Given the description of an element on the screen output the (x, y) to click on. 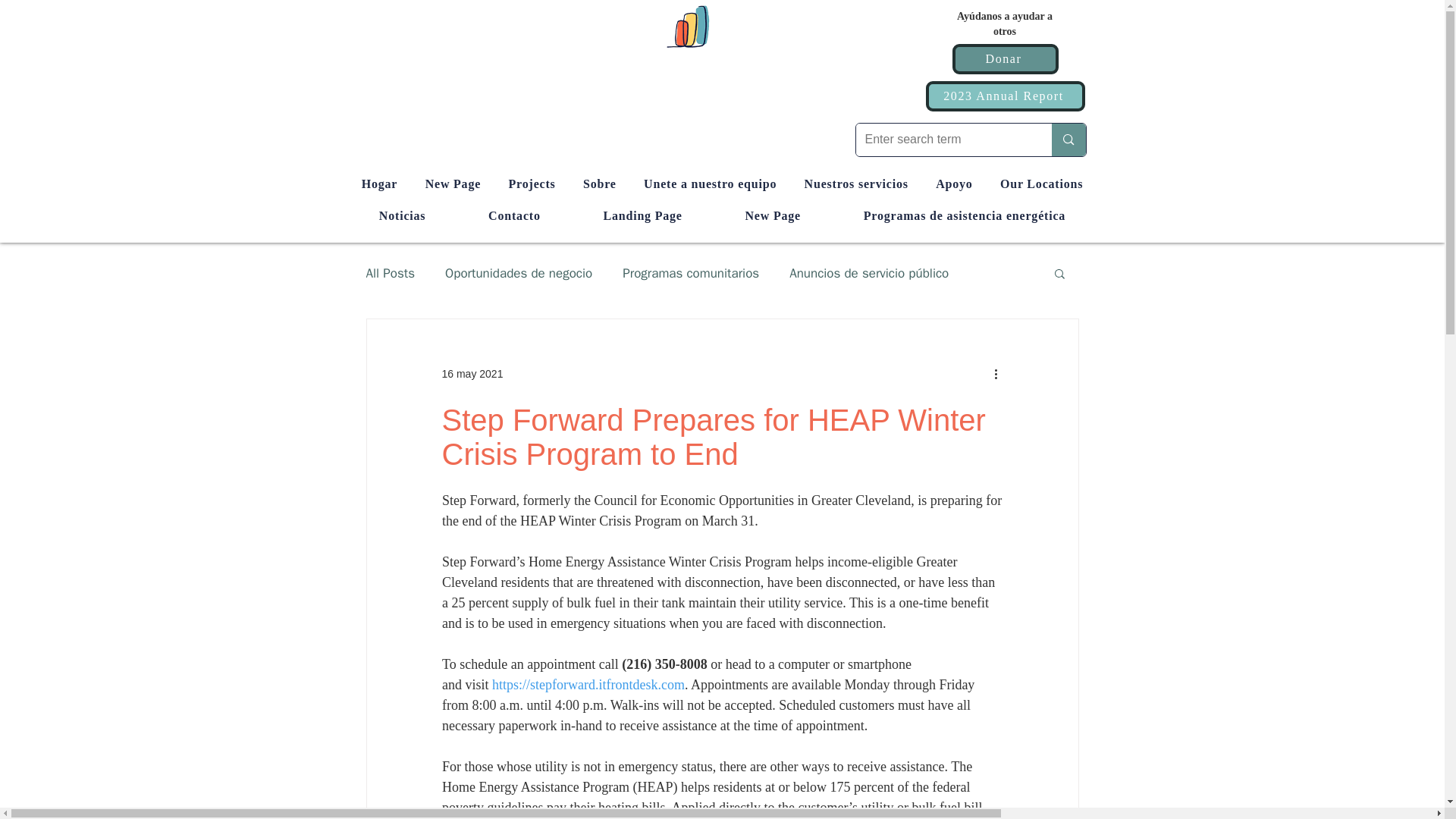
Hogar (378, 184)
step forward today logo (721, 26)
Donar (1005, 59)
16 may 2021 (471, 373)
Unete a nuestro equipo (710, 184)
New Page (452, 184)
2023 Annual Report (1004, 96)
Sobre (599, 184)
Projects (531, 184)
